Given the description of an element on the screen output the (x, y) to click on. 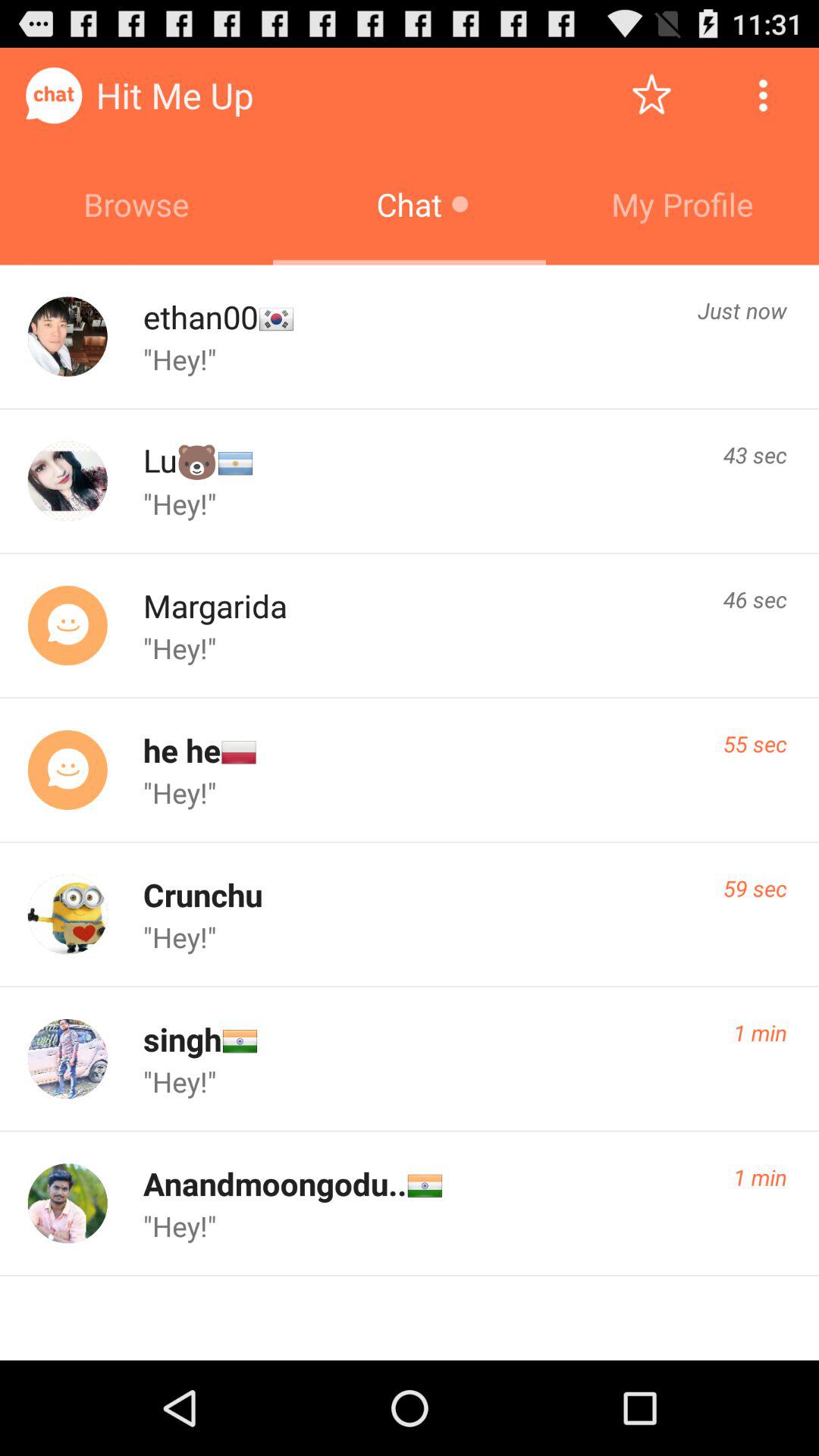
click the item above my profile icon (651, 95)
